Given the description of an element on the screen output the (x, y) to click on. 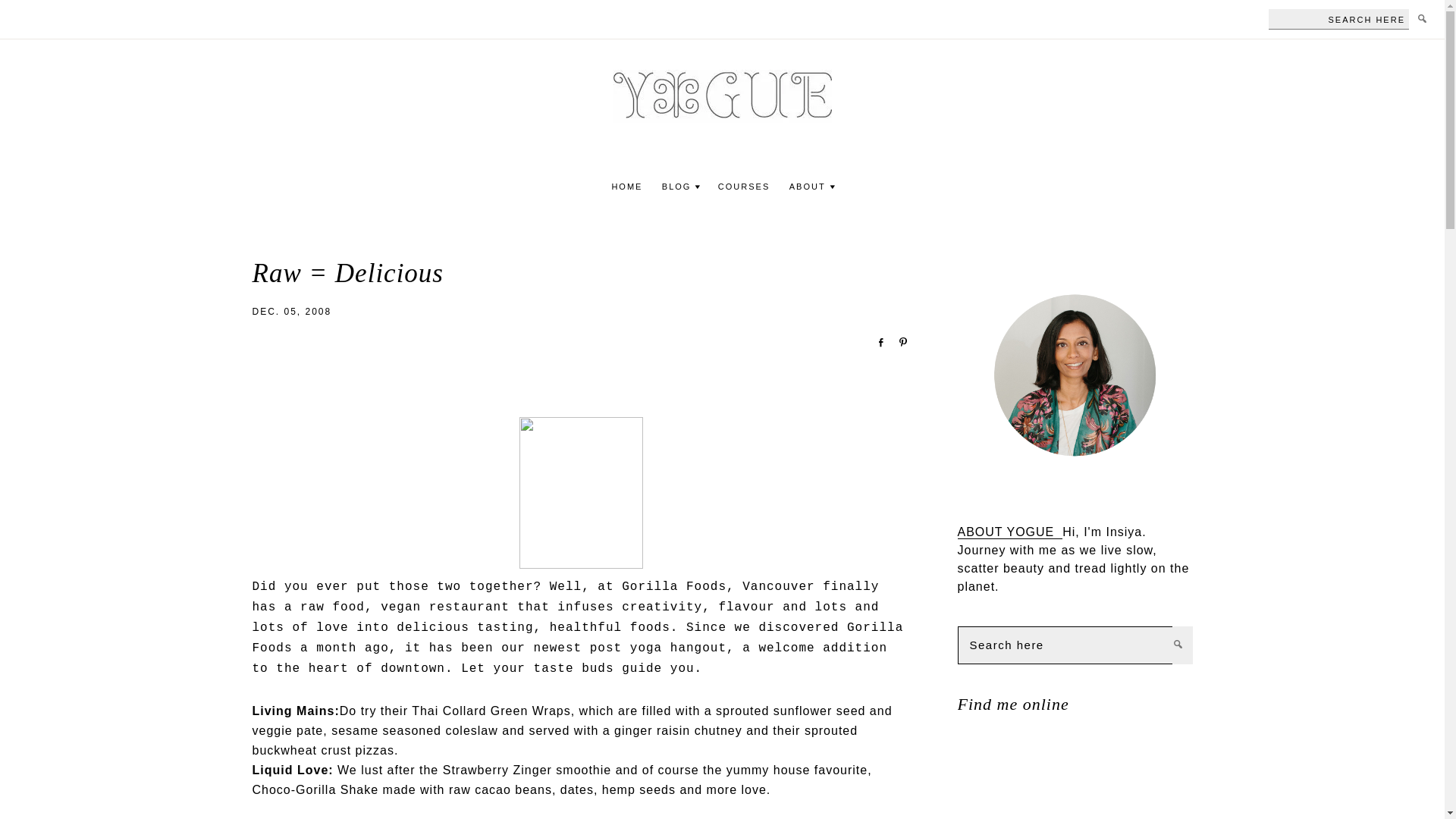
Share (874, 341)
BLOG (676, 186)
HOME (626, 186)
Pin (897, 341)
ABOUT (807, 186)
COURSES (743, 186)
